Given the description of an element on the screen output the (x, y) to click on. 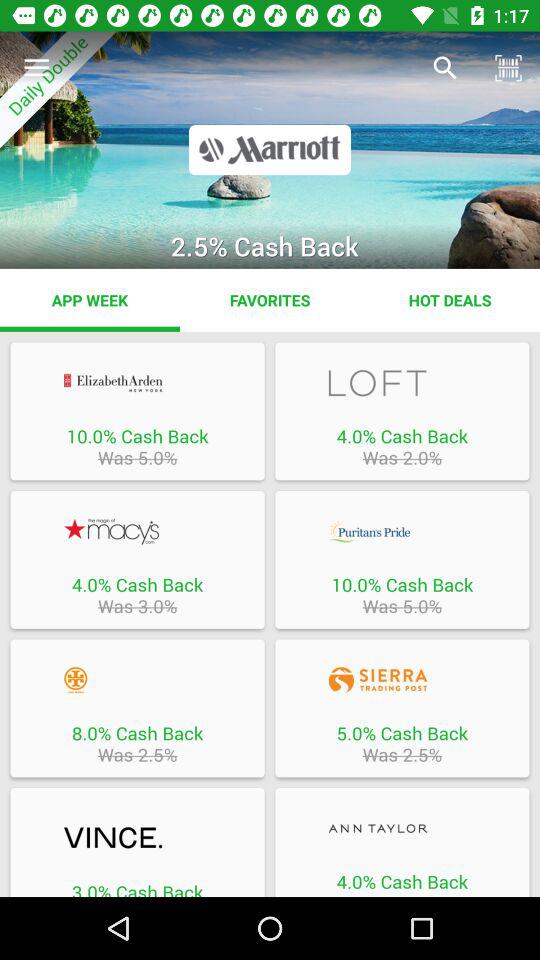
tap icon to the right of the daily double (444, 67)
